Given the description of an element on the screen output the (x, y) to click on. 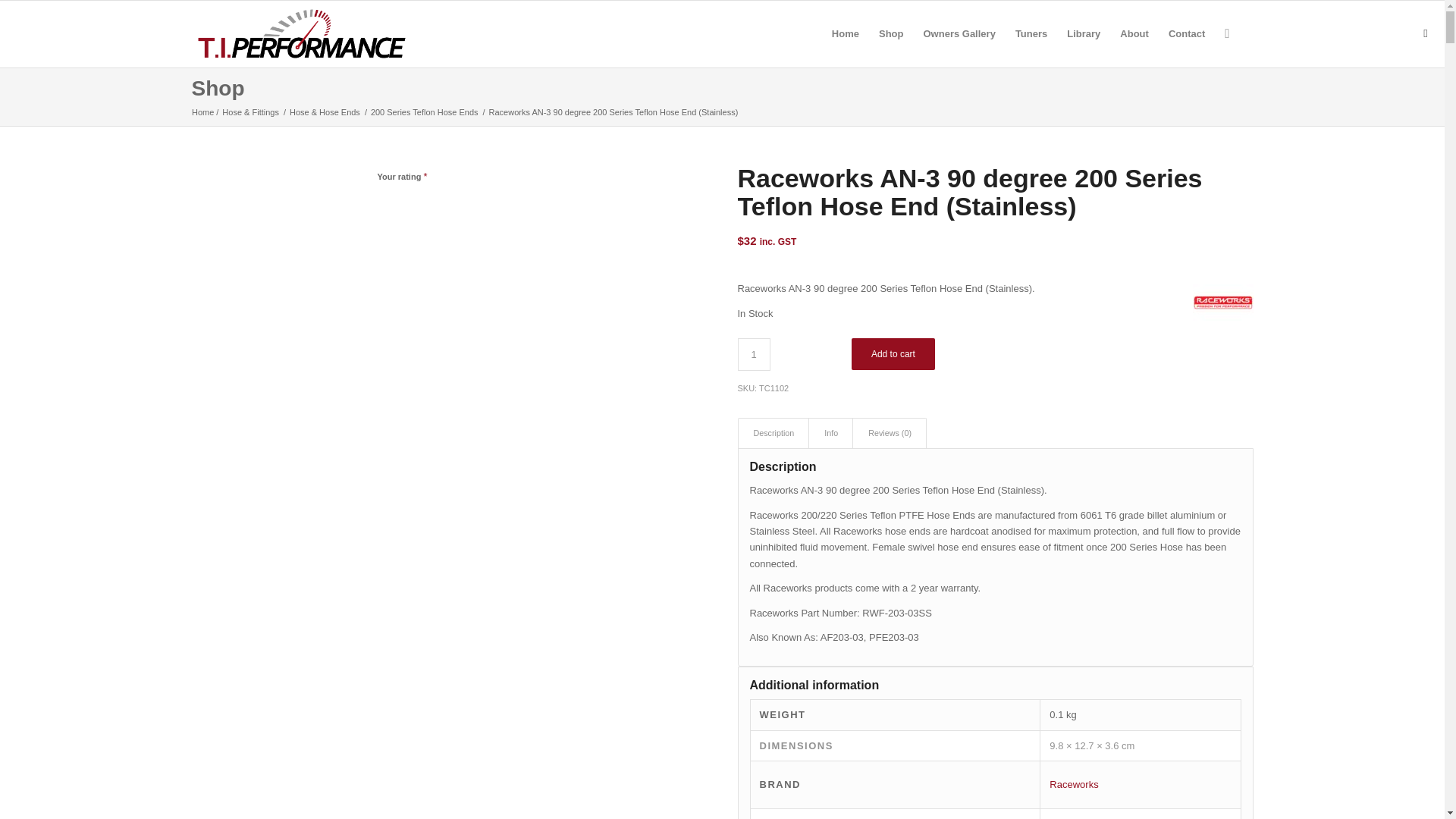
200 Series Teflon Hose Ends (424, 112)
T.I. Performance (300, 33)
1 (753, 354)
T.I. Performance (201, 112)
